Given the description of an element on the screen output the (x, y) to click on. 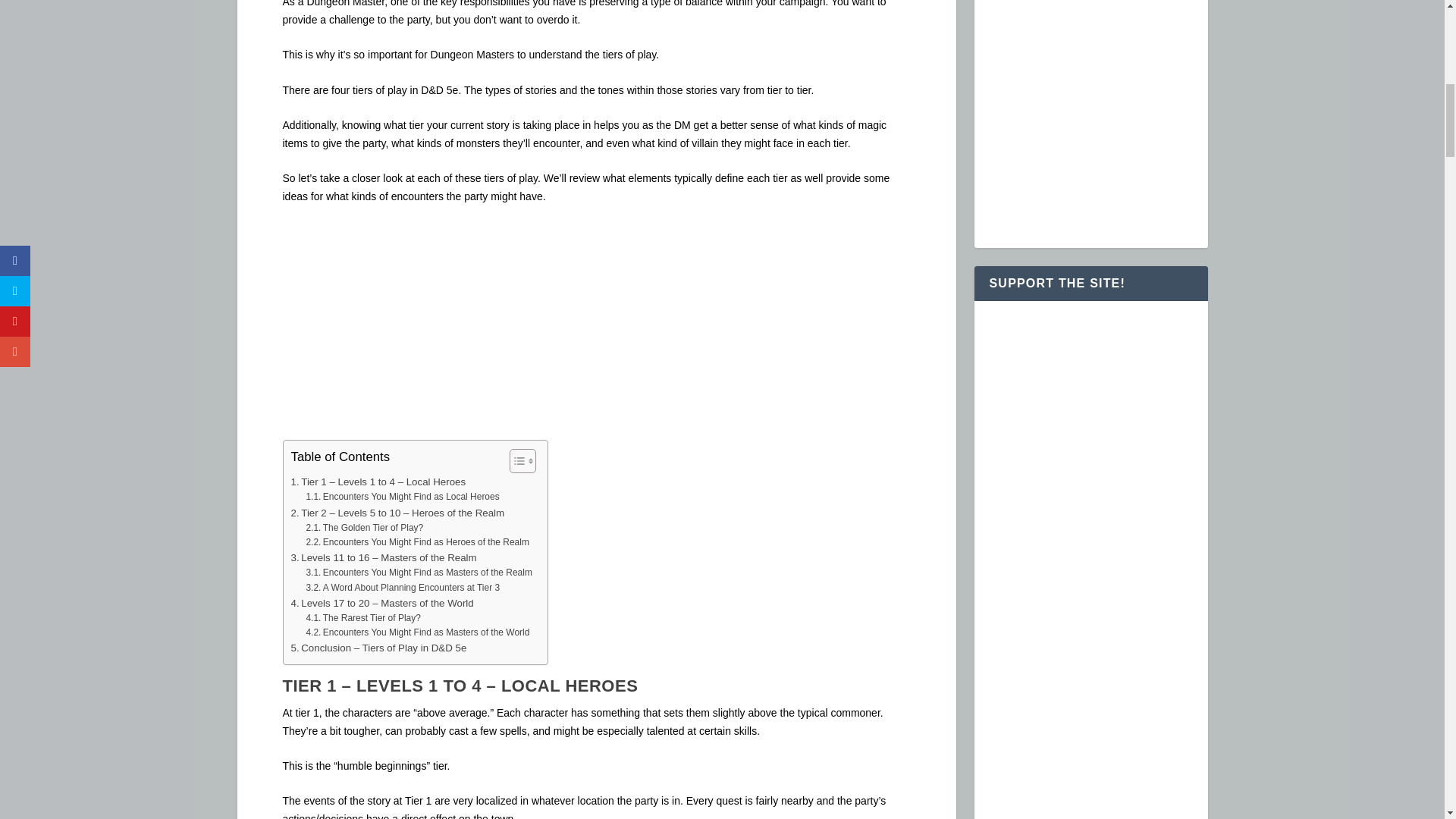
Encounters You Might Find as Local Heroes (402, 496)
Encounters You Might Find as Heroes of the Realm (416, 542)
A Word About Planning Encounters at Tier 3 (402, 587)
The Rarest Tier of Play? (362, 617)
Encounters You Might Find as Local Heroes (402, 496)
The Golden Tier of Play? (364, 527)
Encounters You Might Find as Masters of the Realm (418, 572)
Encounters You Might Find as Masters of the World (417, 632)
